Given the description of an element on the screen output the (x, y) to click on. 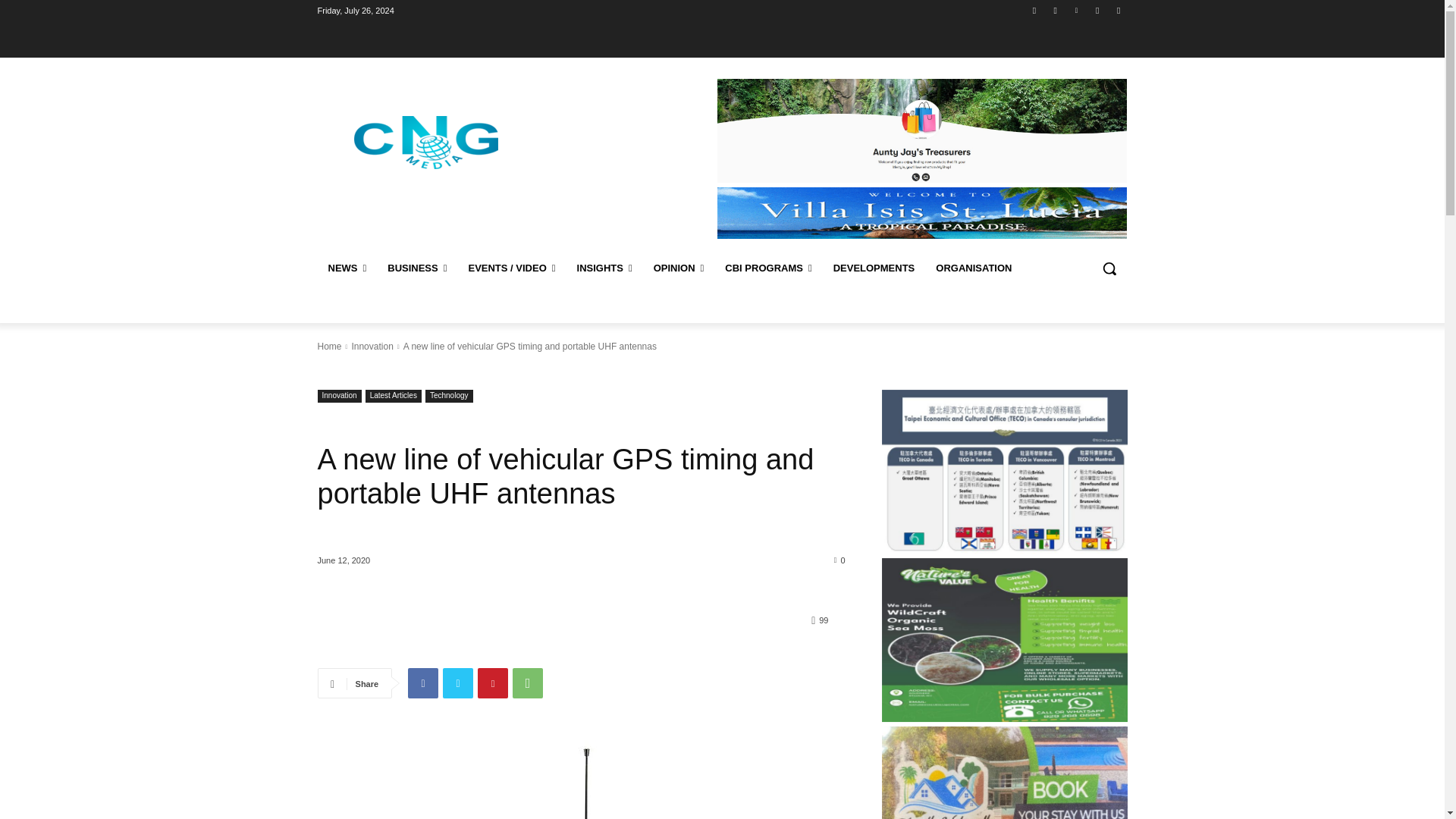
Twitter (1097, 9)
Linkedin (1075, 9)
Facebook (1034, 9)
NEWS (347, 268)
Youtube (1117, 9)
Instagram (1055, 9)
